Given the description of an element on the screen output the (x, y) to click on. 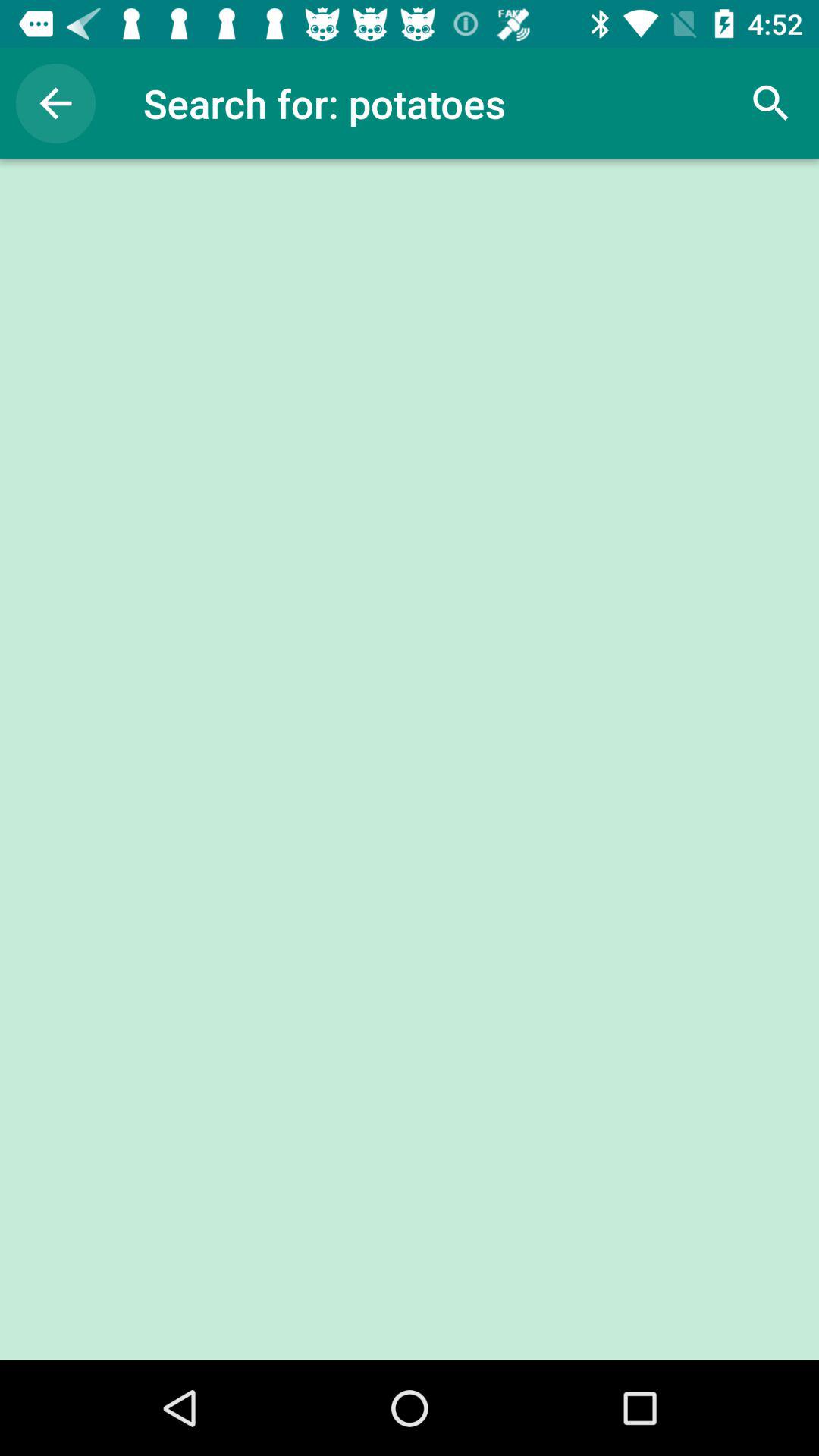
tap the item next to search for: potatoes item (55, 103)
